Given the description of an element on the screen output the (x, y) to click on. 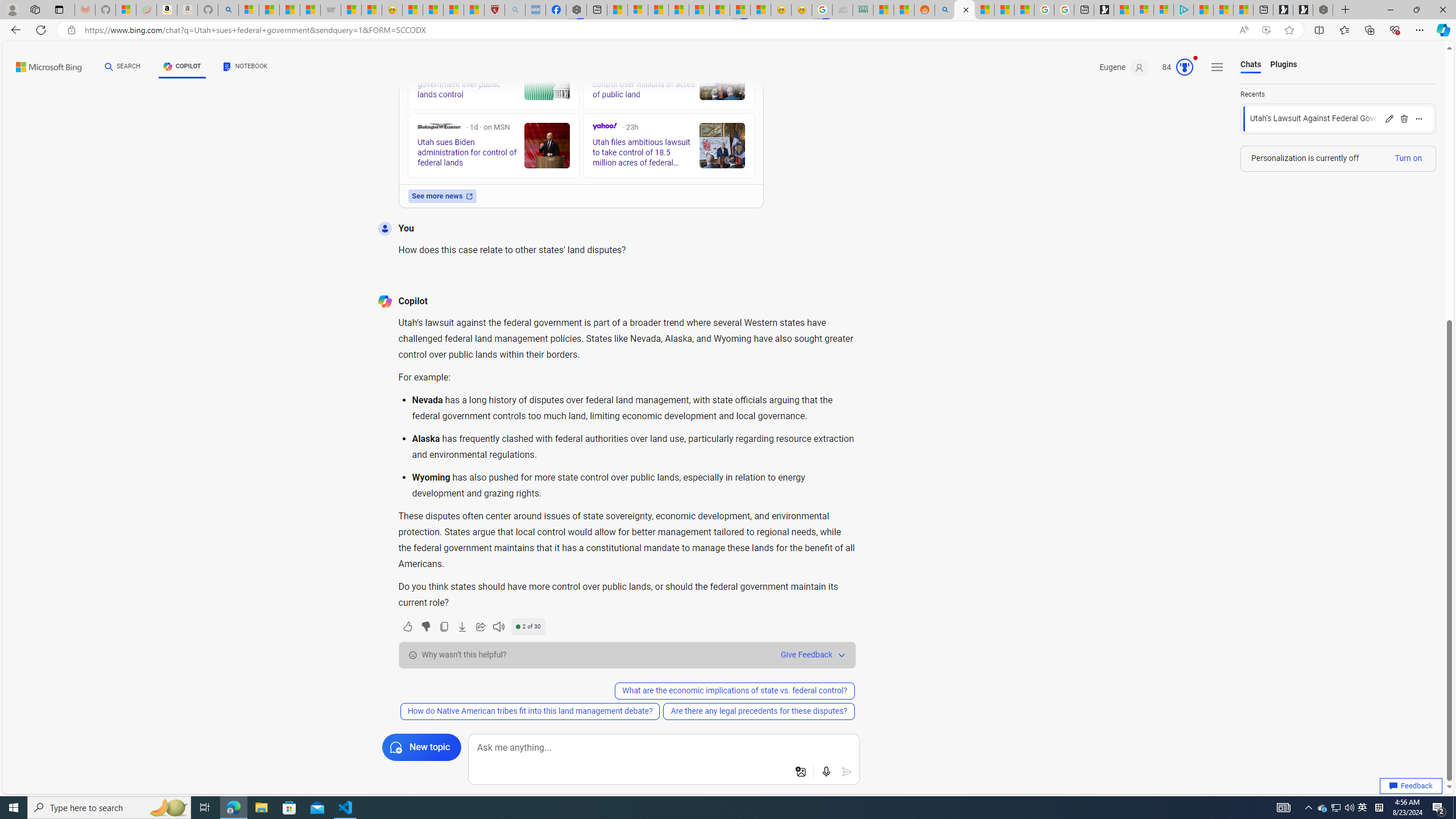
Settings and quick links (1217, 67)
Add an image to search (800, 771)
Utah sues federal government over public lands control (546, 76)
